Given the description of an element on the screen output the (x, y) to click on. 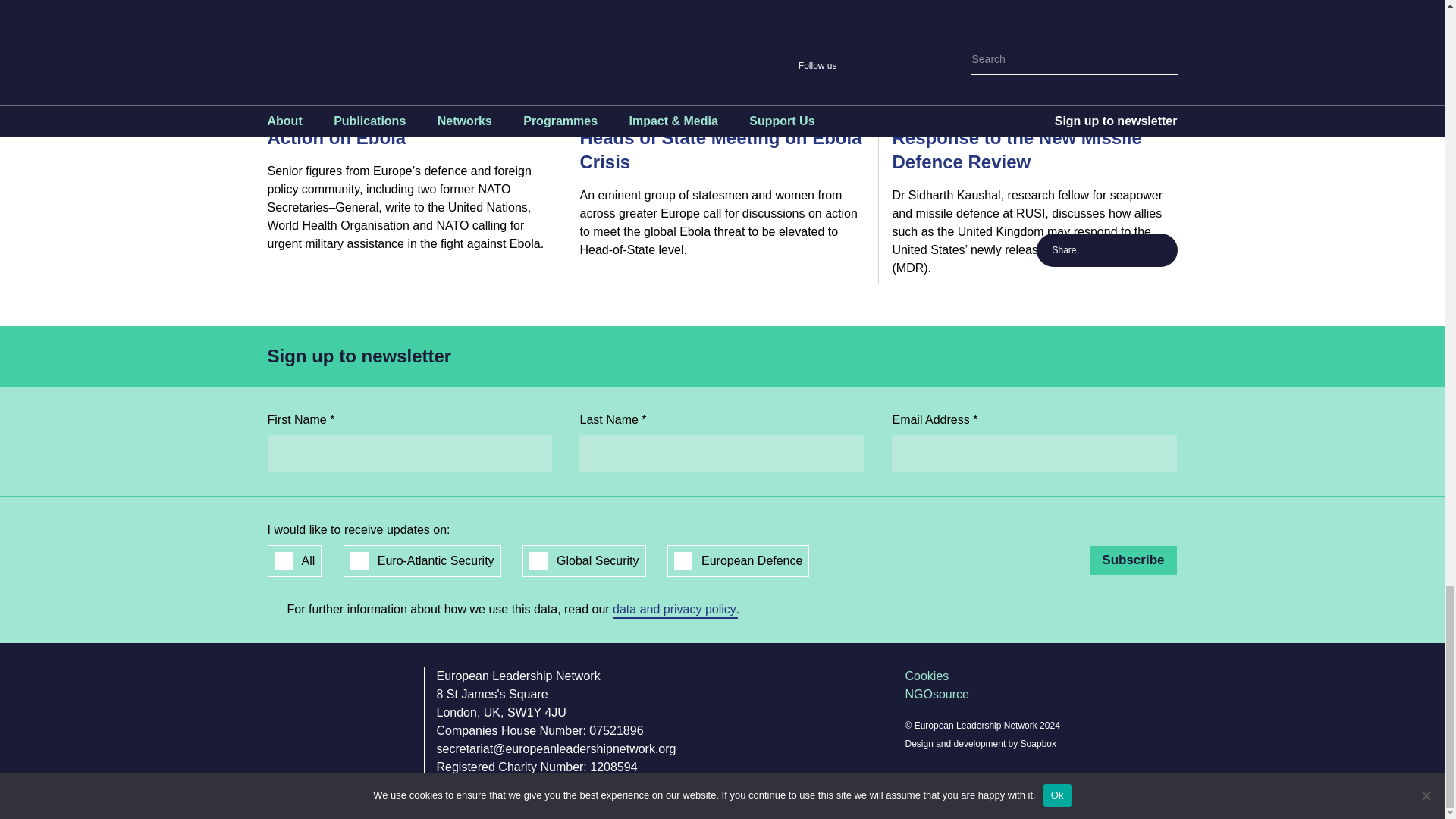
Subscribe (1132, 560)
